Given the description of an element on the screen output the (x, y) to click on. 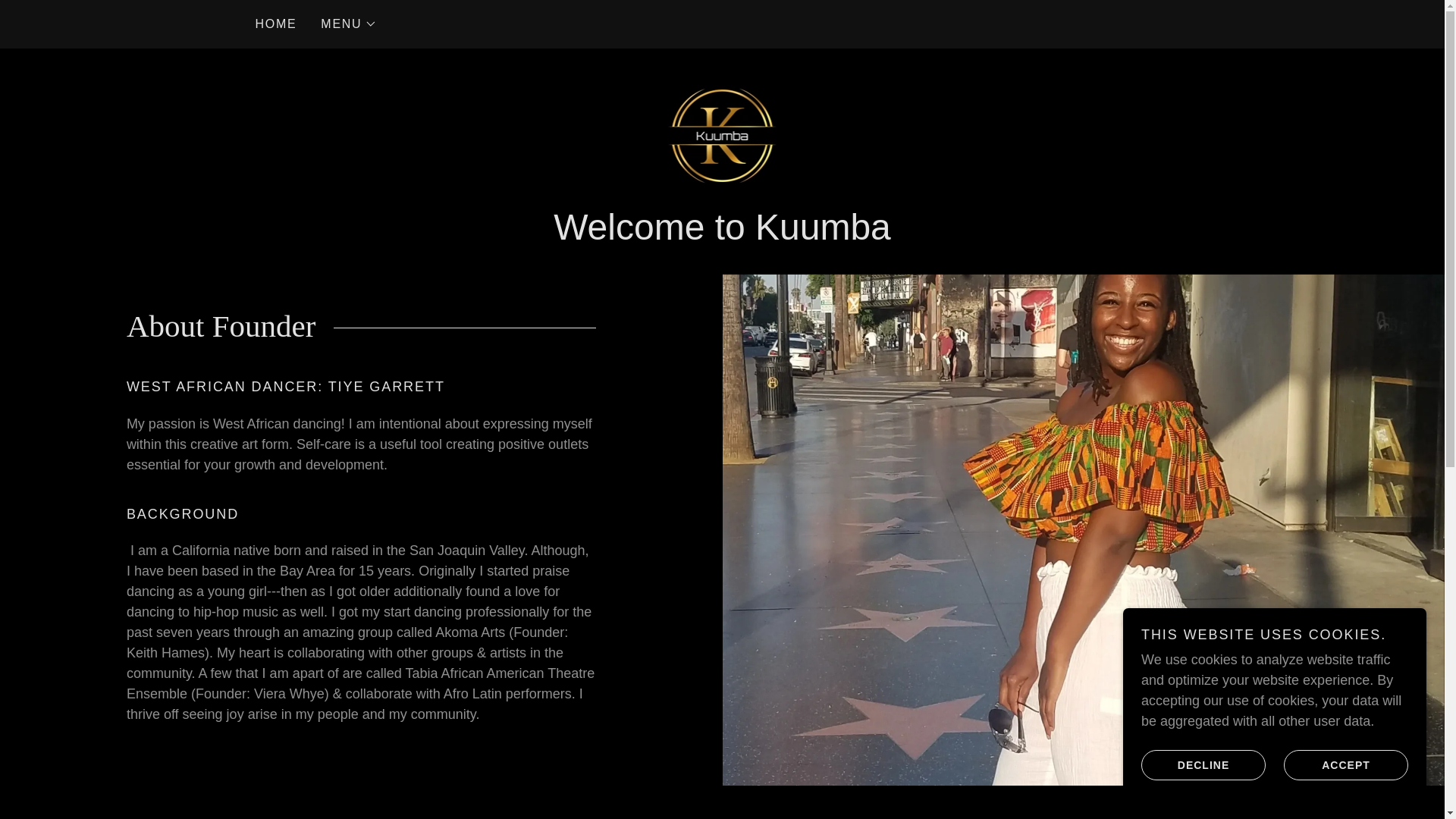
ACCEPT (1345, 764)
MENU (348, 24)
Kuumba (722, 134)
DECLINE (1203, 764)
HOME (275, 23)
